Given the description of an element on the screen output the (x, y) to click on. 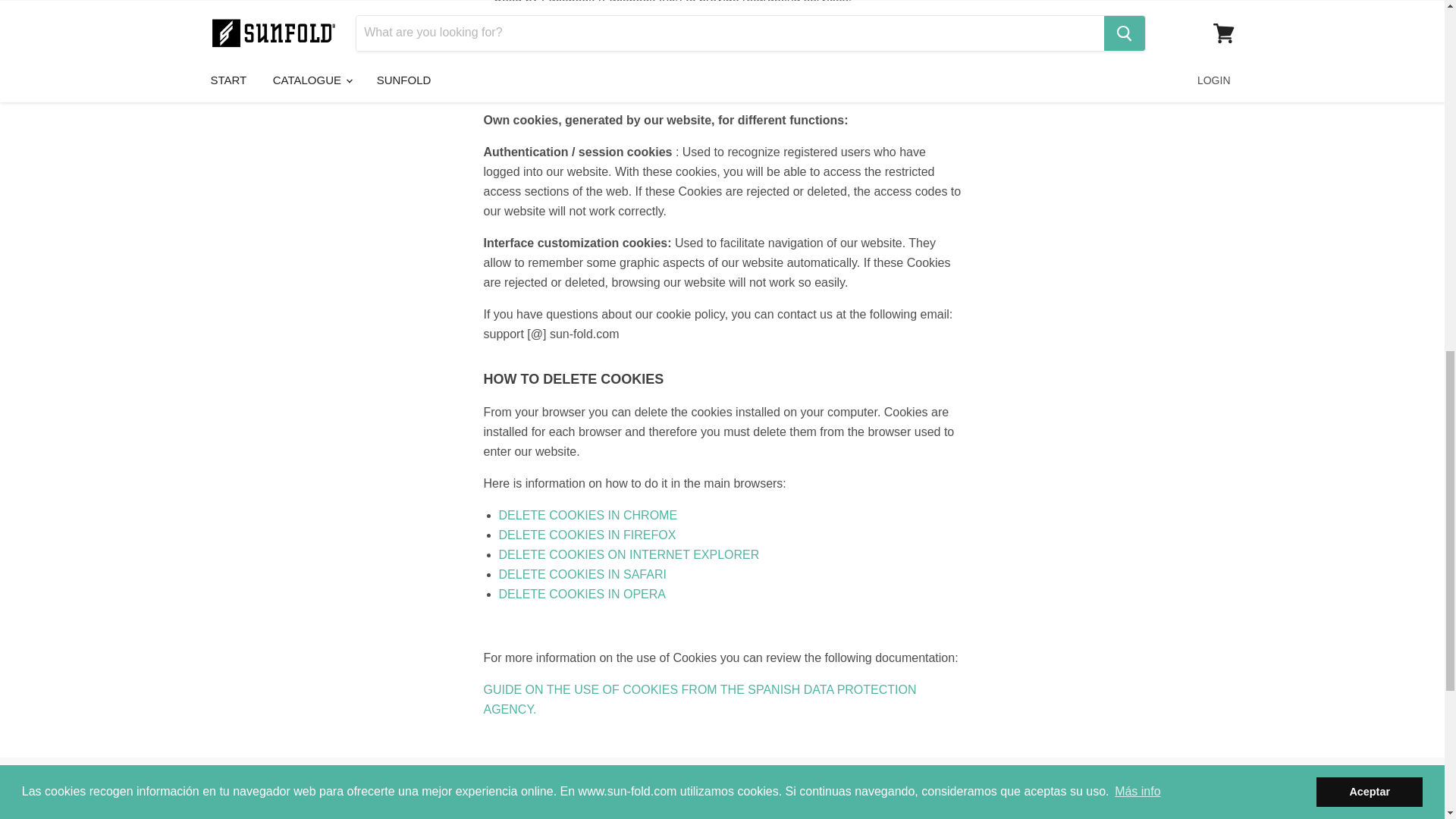
DELETE COOKIES IN FIREFOX (588, 534)
DELETE COOKIES ON INTERNET EXPLORER (629, 554)
DELETE COOKIES IN SAFARI (582, 574)
DELETE COOKIES IN CHROME (588, 514)
